Given the description of an element on the screen output the (x, y) to click on. 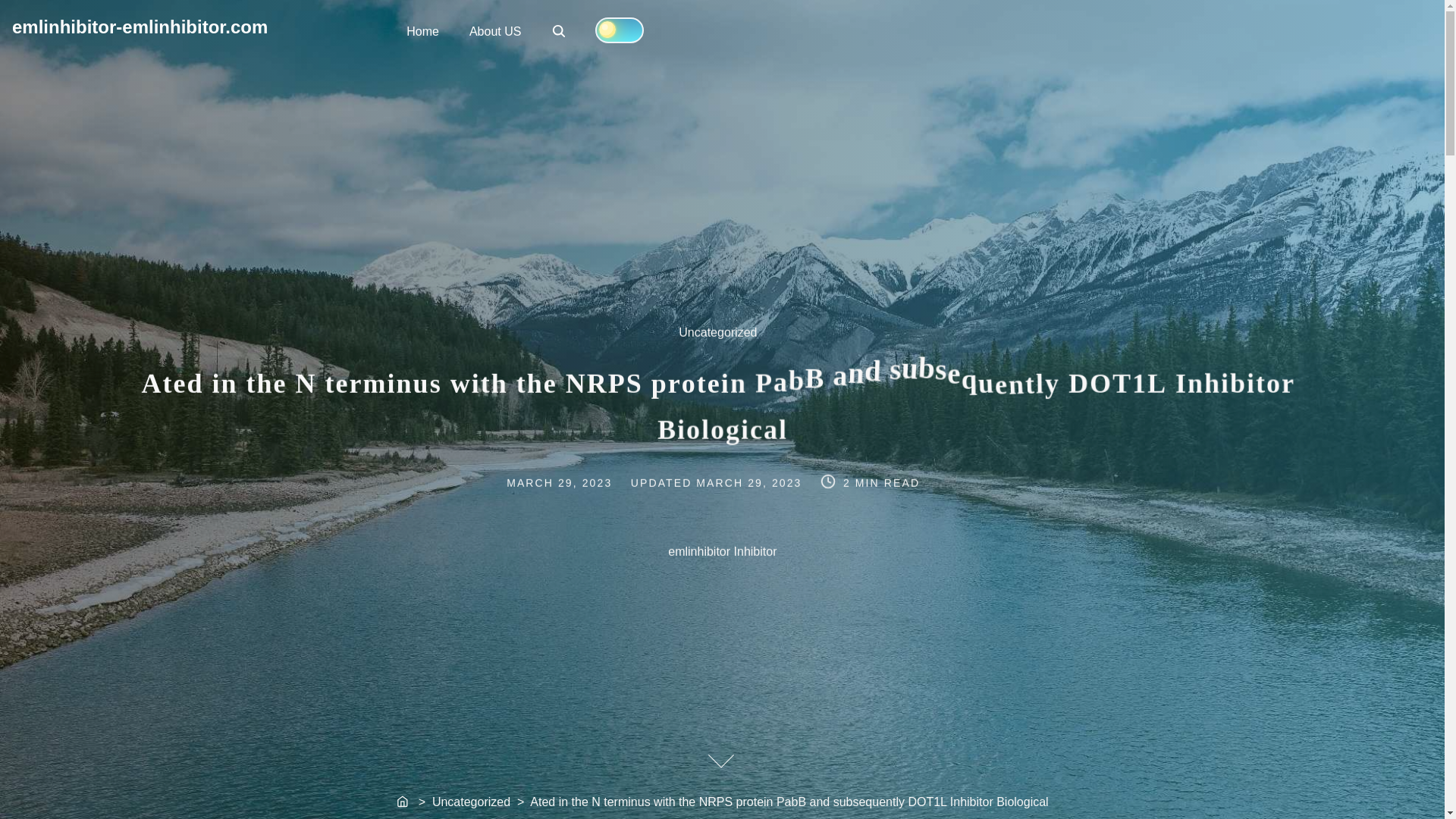
About US (494, 30)
Home (403, 802)
emlinhibitor-emlinhibitor.com (139, 26)
MARCH 29, 2023 (575, 480)
MARCH 29, 2023 (750, 480)
Home (422, 30)
Uncategorized (726, 341)
Search (559, 31)
